Given the description of an element on the screen output the (x, y) to click on. 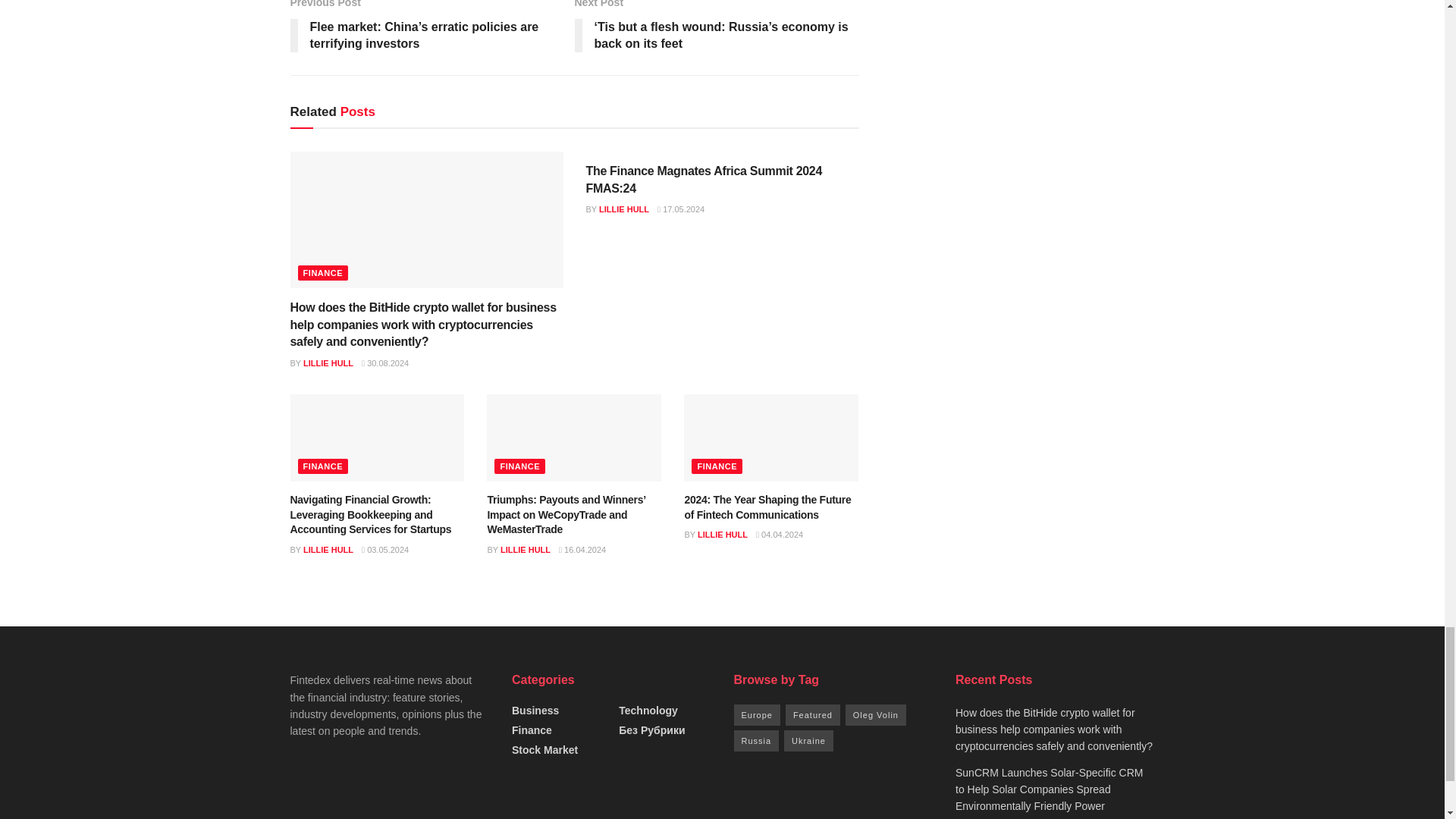
LILLIE HULL (623, 208)
FINANCE (322, 272)
FINANCE (322, 466)
LILLIE HULL (327, 362)
30.08.2024 (385, 362)
The Finance Magnates Africa Summit 2024 FMAS:24 (703, 179)
17.05.2024 (681, 208)
